Given the description of an element on the screen output the (x, y) to click on. 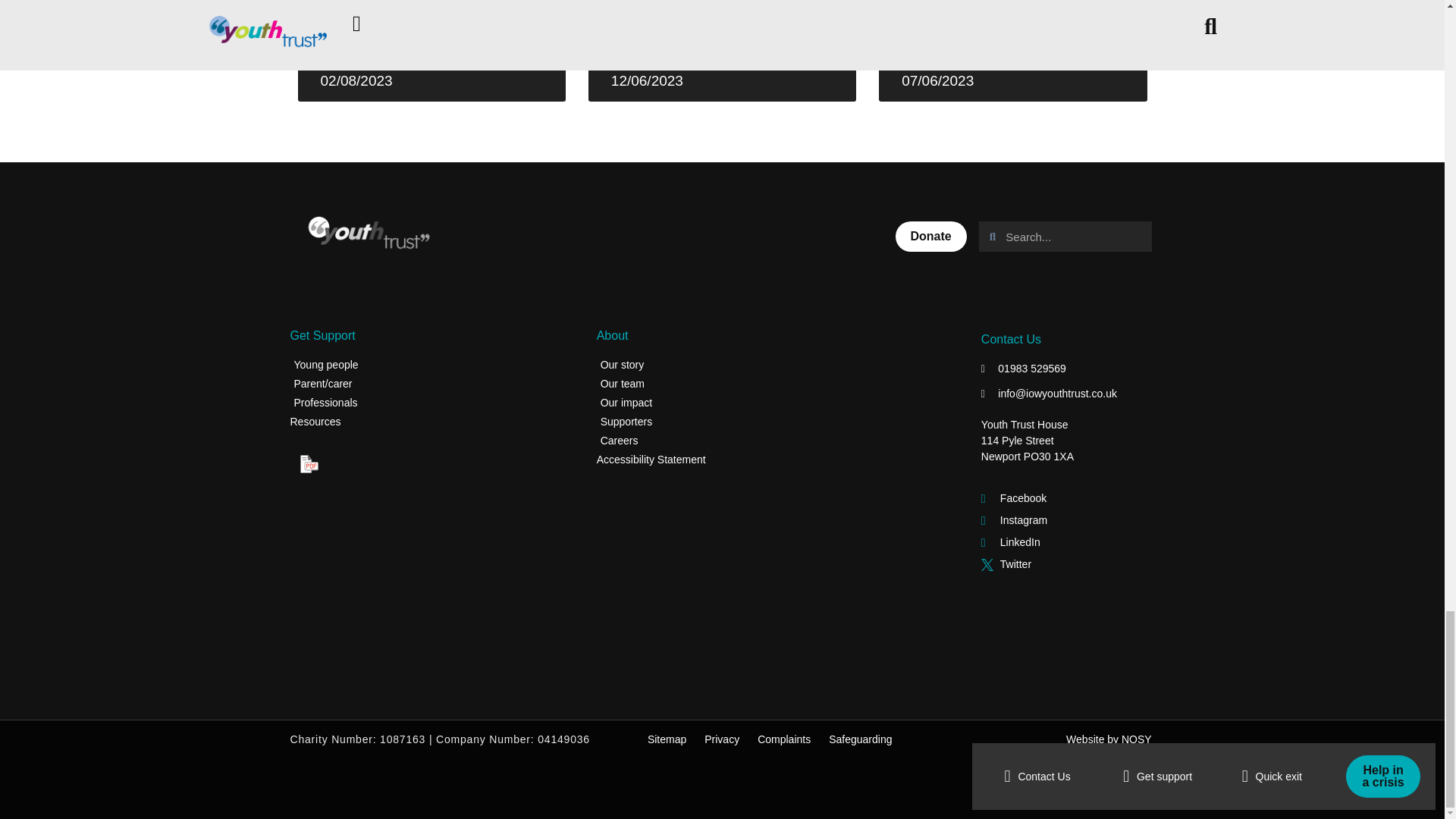
VIEW ARTICLE (352, 5)
Read more (933, 38)
VIEW ARTICLE (644, 29)
Read more (352, 5)
Read more (644, 29)
